Given the description of an element on the screen output the (x, y) to click on. 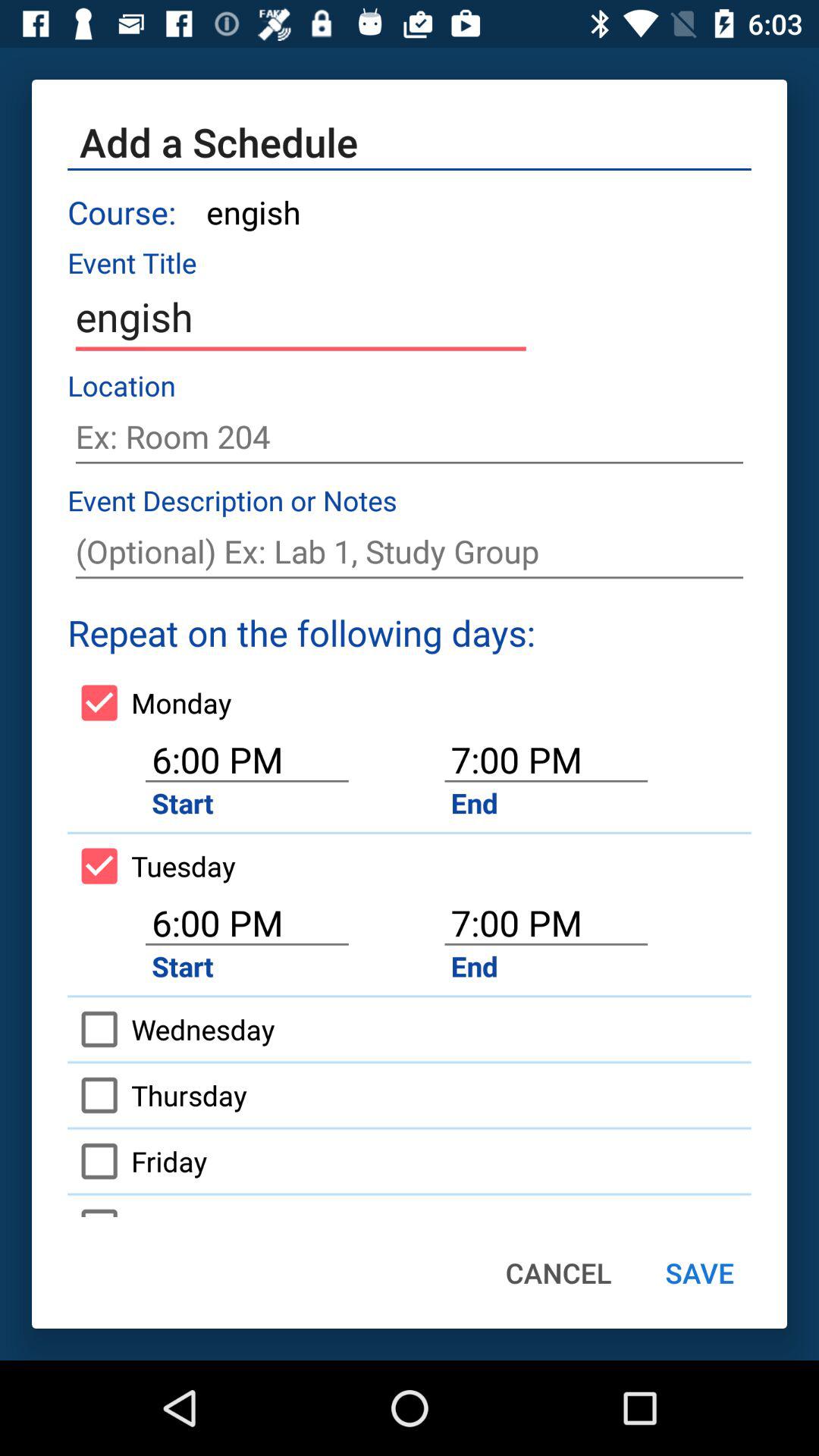
press the icon next to cancel icon (699, 1272)
